Given the description of an element on the screen output the (x, y) to click on. 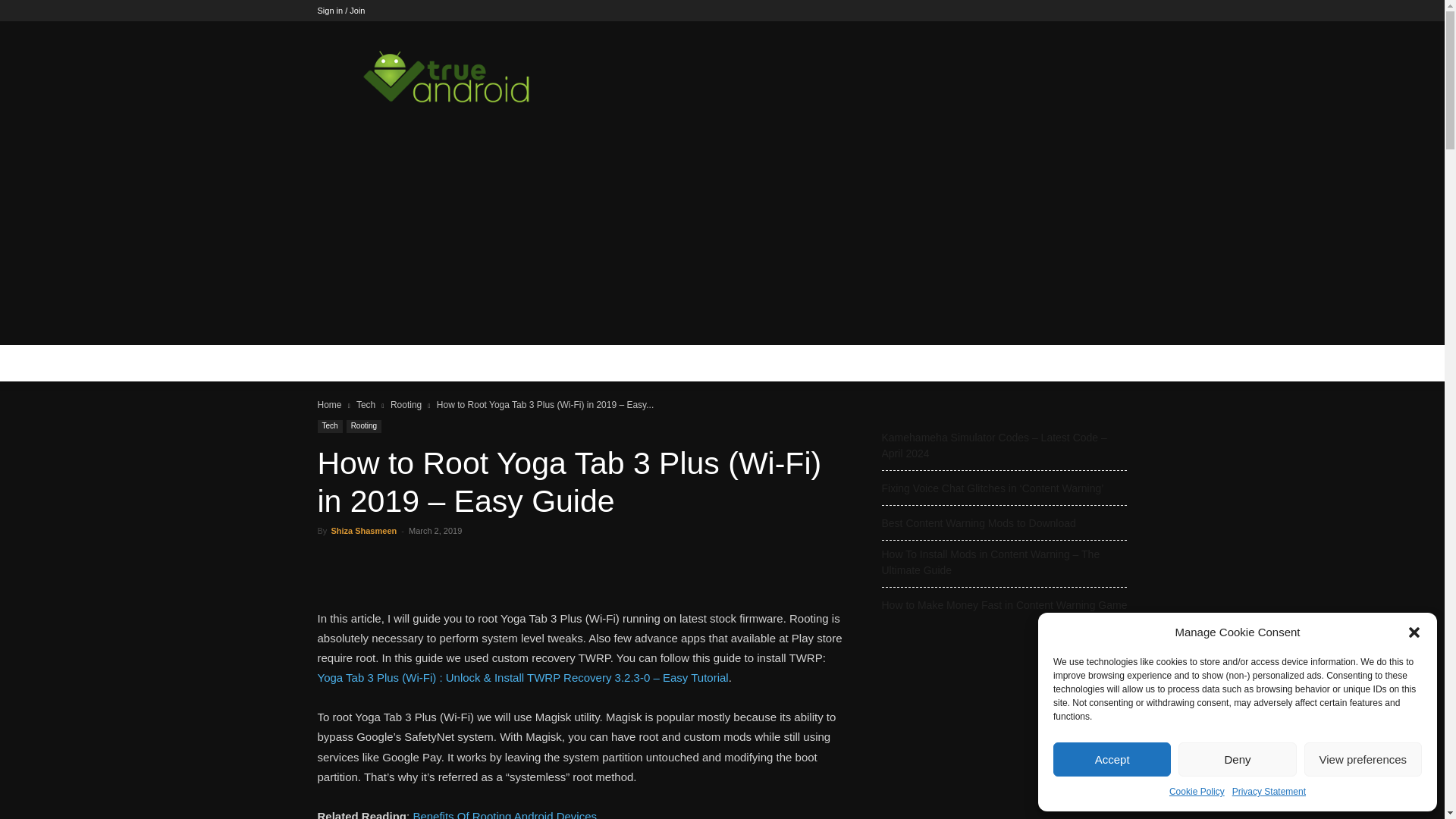
Cookie Policy (1196, 791)
OFFBEAT (600, 362)
TECH (394, 362)
HOME (343, 362)
View preferences (1363, 759)
Accept (1111, 759)
GAMING (453, 362)
Privacy Statement (1268, 791)
View all posts in Rooting (406, 404)
View all posts in Tech (365, 404)
Deny (1236, 759)
GADGETS (521, 362)
